Given the description of an element on the screen output the (x, y) to click on. 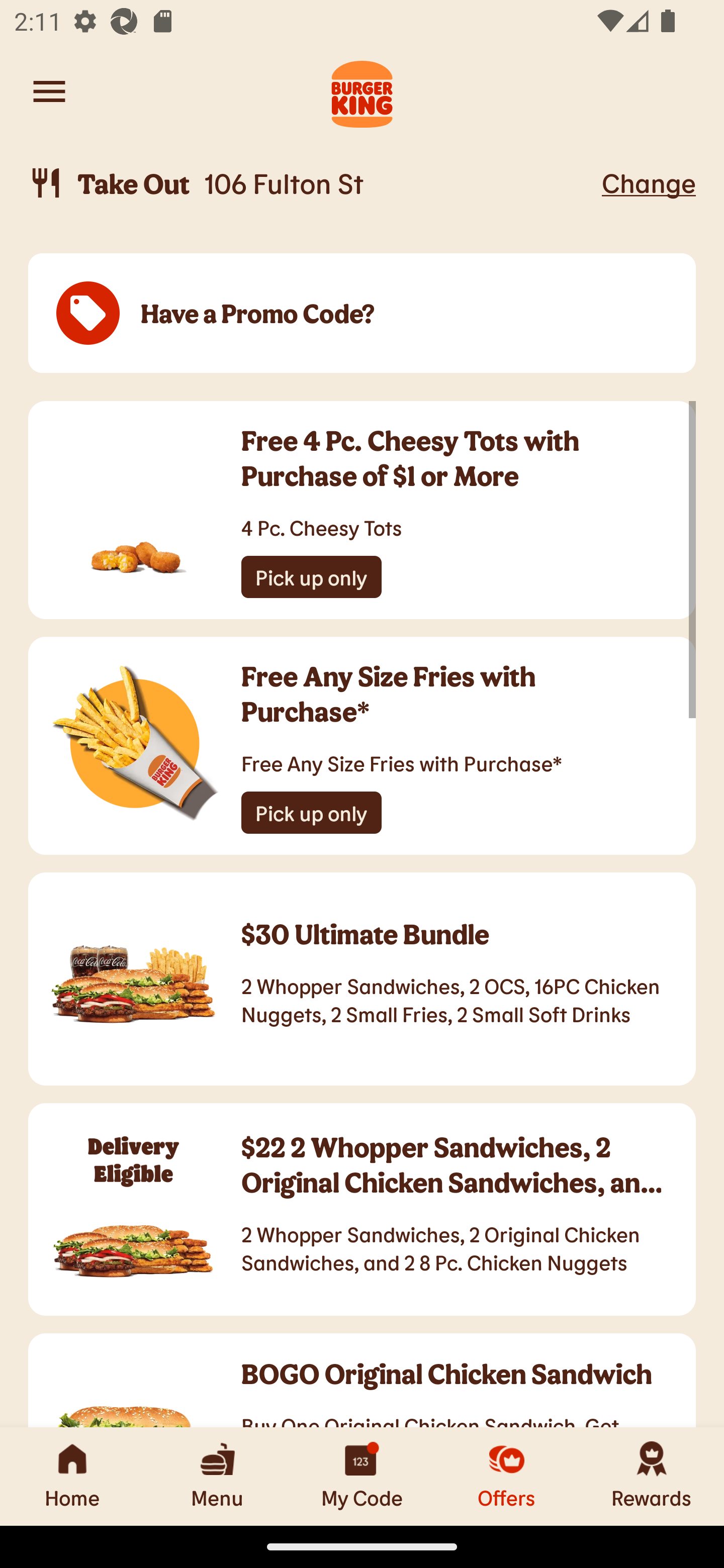
Burger King Logo. Navigate to Home (362, 91)
Navigate to account menu  (49, 91)
Take Out, 106 Fulton St  Take Out 106 Fulton St (311, 183)
Change (648, 182)
Have a Promo Code?  Have a Promo Code? (361, 313)
Home (72, 1475)
Menu (216, 1475)
My Code (361, 1475)
Offers (506, 1475)
Rewards (651, 1475)
